Given the description of an element on the screen output the (x, y) to click on. 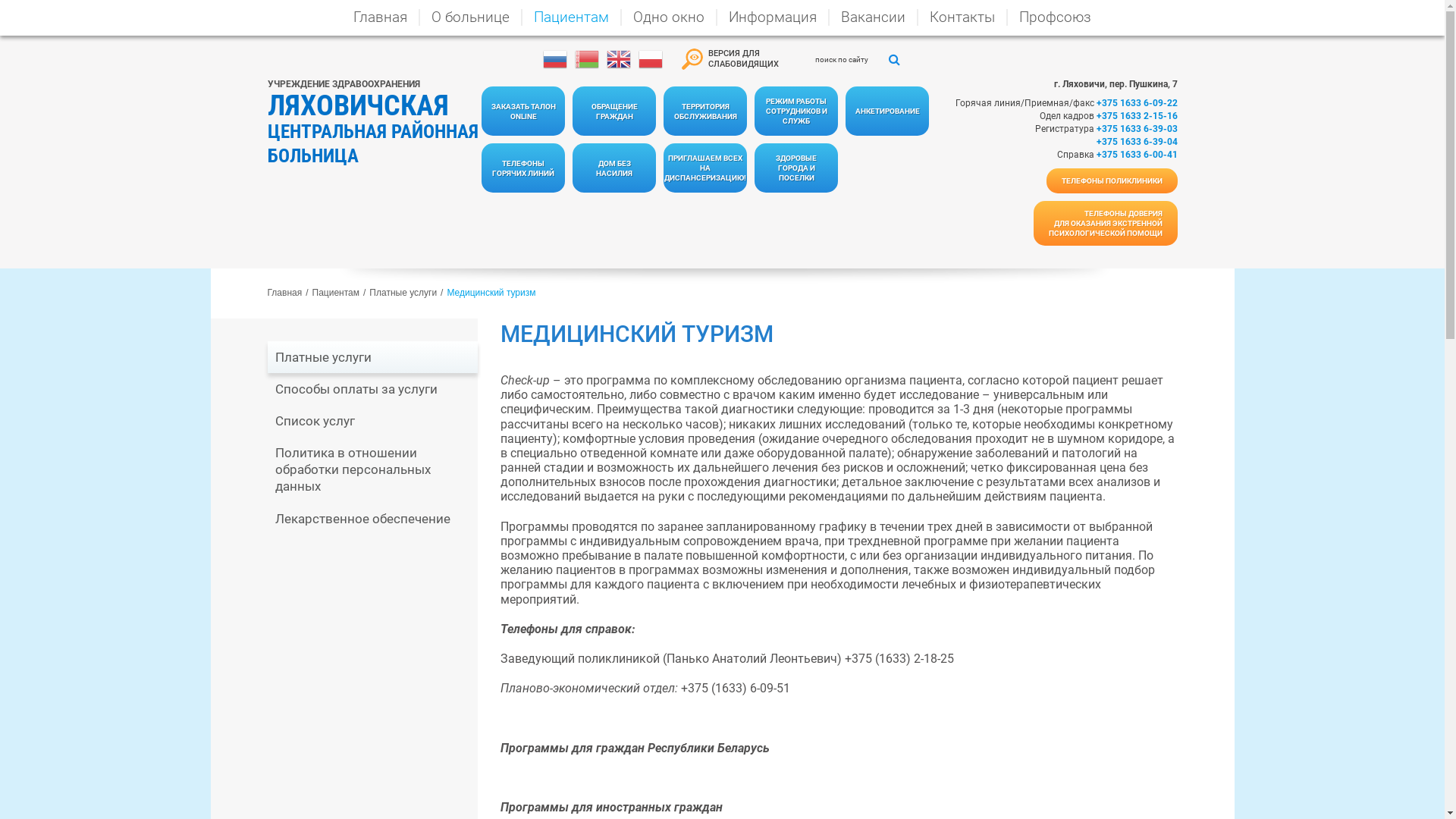
Polish Element type: hover (650, 59)
Belarusian Element type: hover (586, 59)
Russian Element type: hover (555, 59)
English Element type: hover (618, 59)
